Given the description of an element on the screen output the (x, y) to click on. 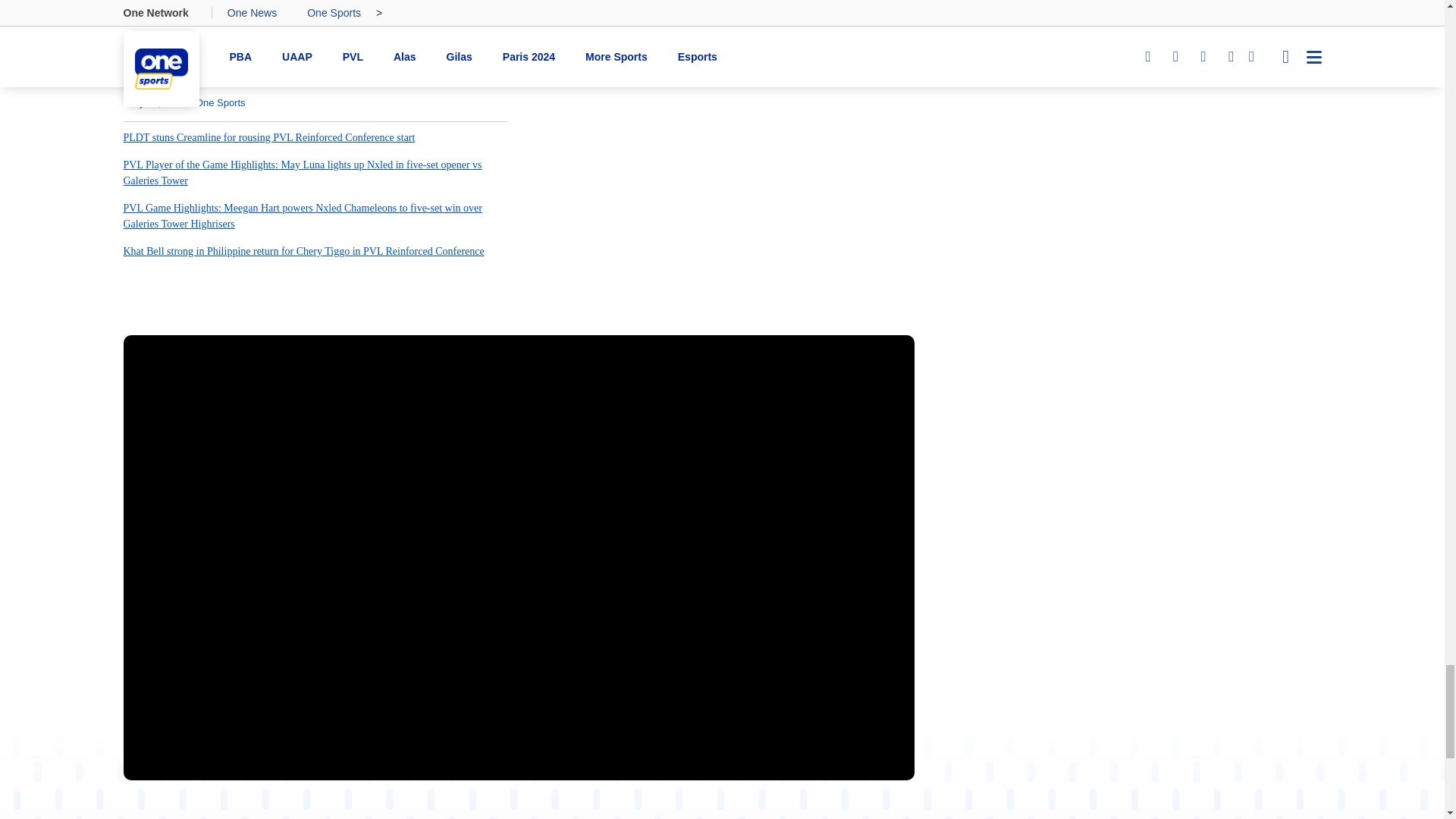
3rd party ad content (721, 814)
